Given the description of an element on the screen output the (x, y) to click on. 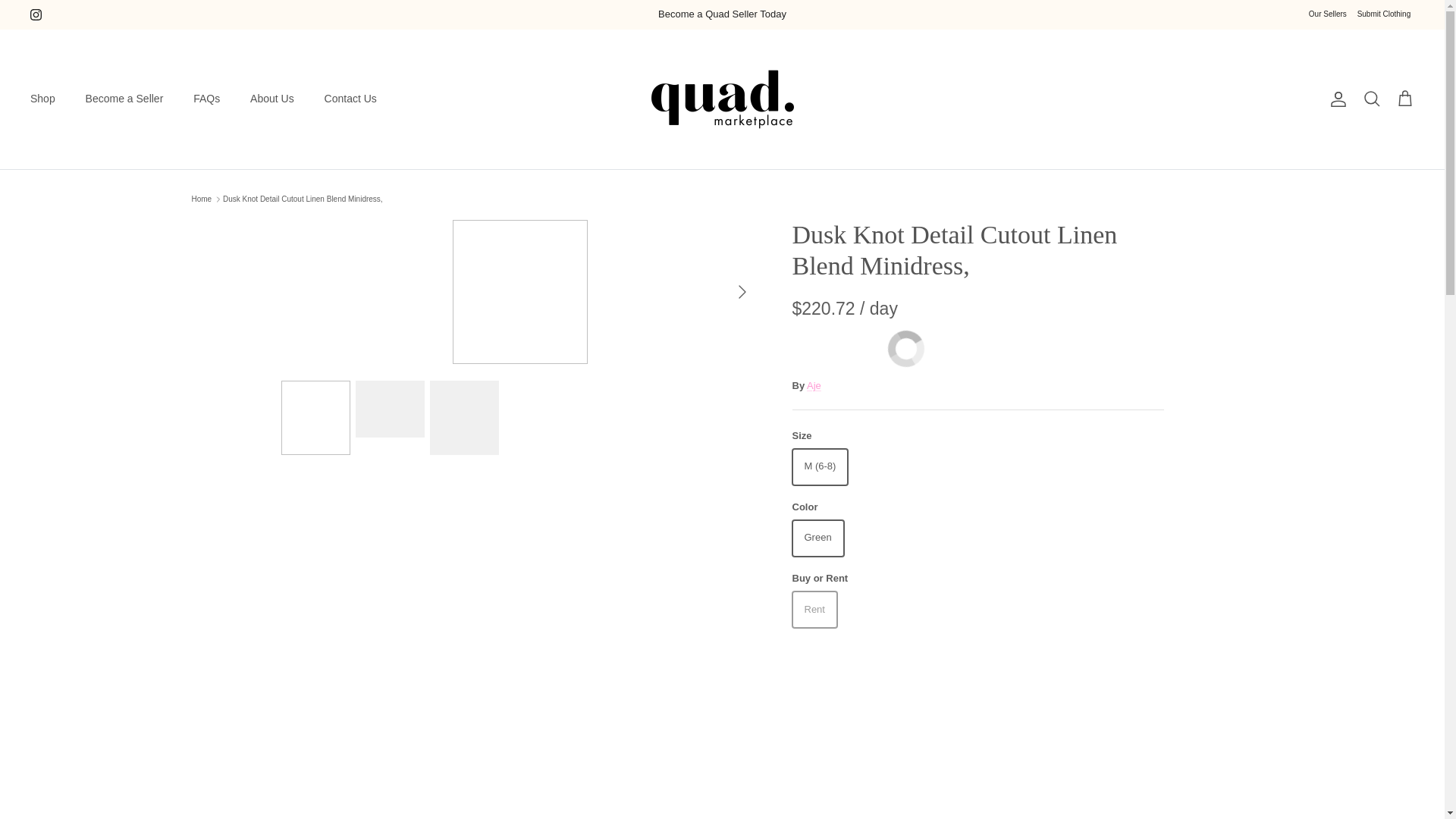
Account (1335, 99)
Search (1371, 98)
Quad Marketplace (721, 99)
Contact Us (350, 98)
Right (741, 291)
Become a Seller (124, 98)
Submit Clothing (1383, 14)
Cart (1404, 98)
Shop (42, 98)
Instagram (36, 14)
